Given the description of an element on the screen output the (x, y) to click on. 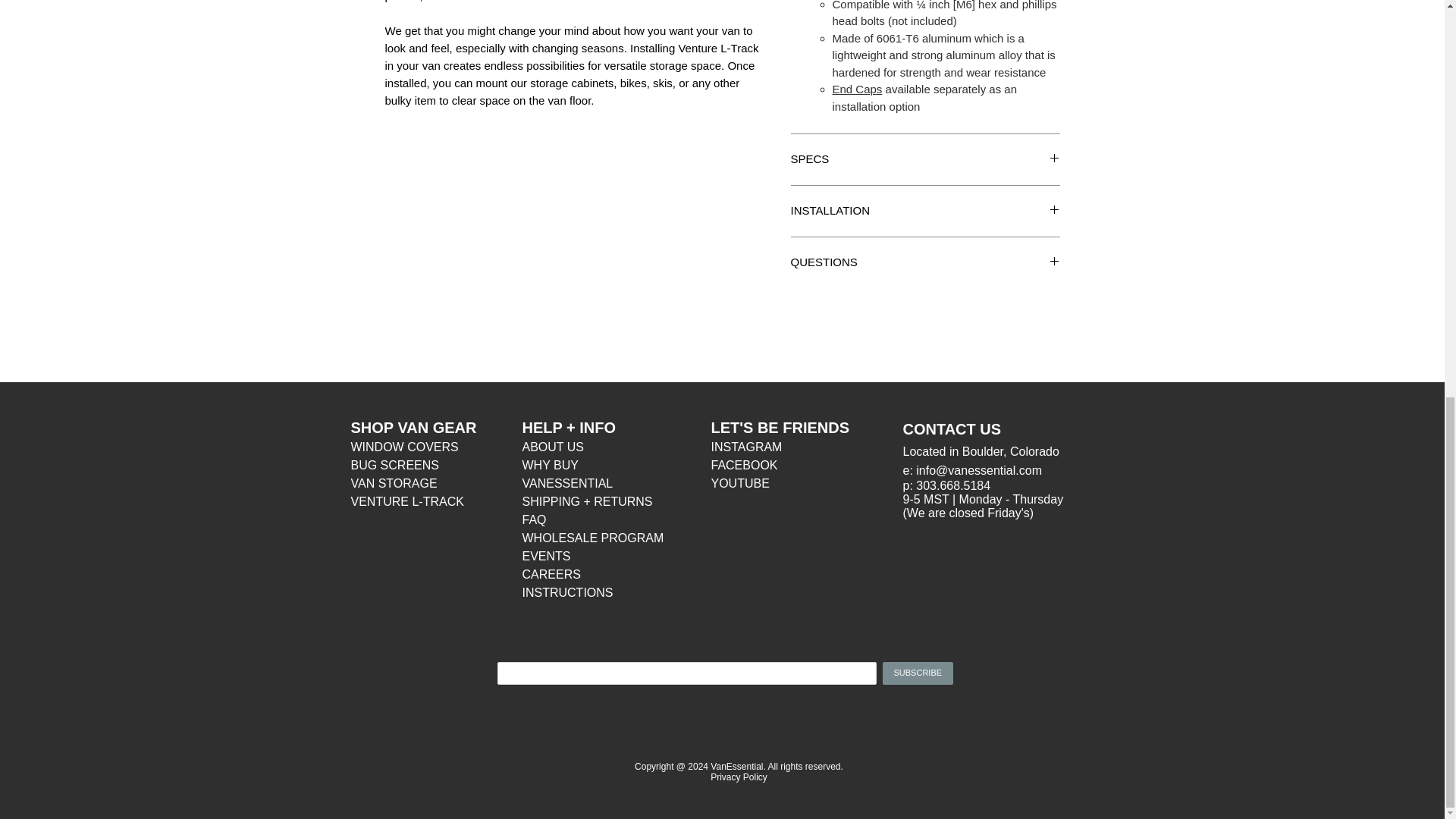
End Caps (857, 88)
SPECS (924, 159)
BUG SCREENS (394, 464)
WINDOW COVERS (404, 446)
INSTALLATION (924, 210)
QUESTIONS (924, 262)
SHOP VAN GEAR (413, 428)
